Given the description of an element on the screen output the (x, y) to click on. 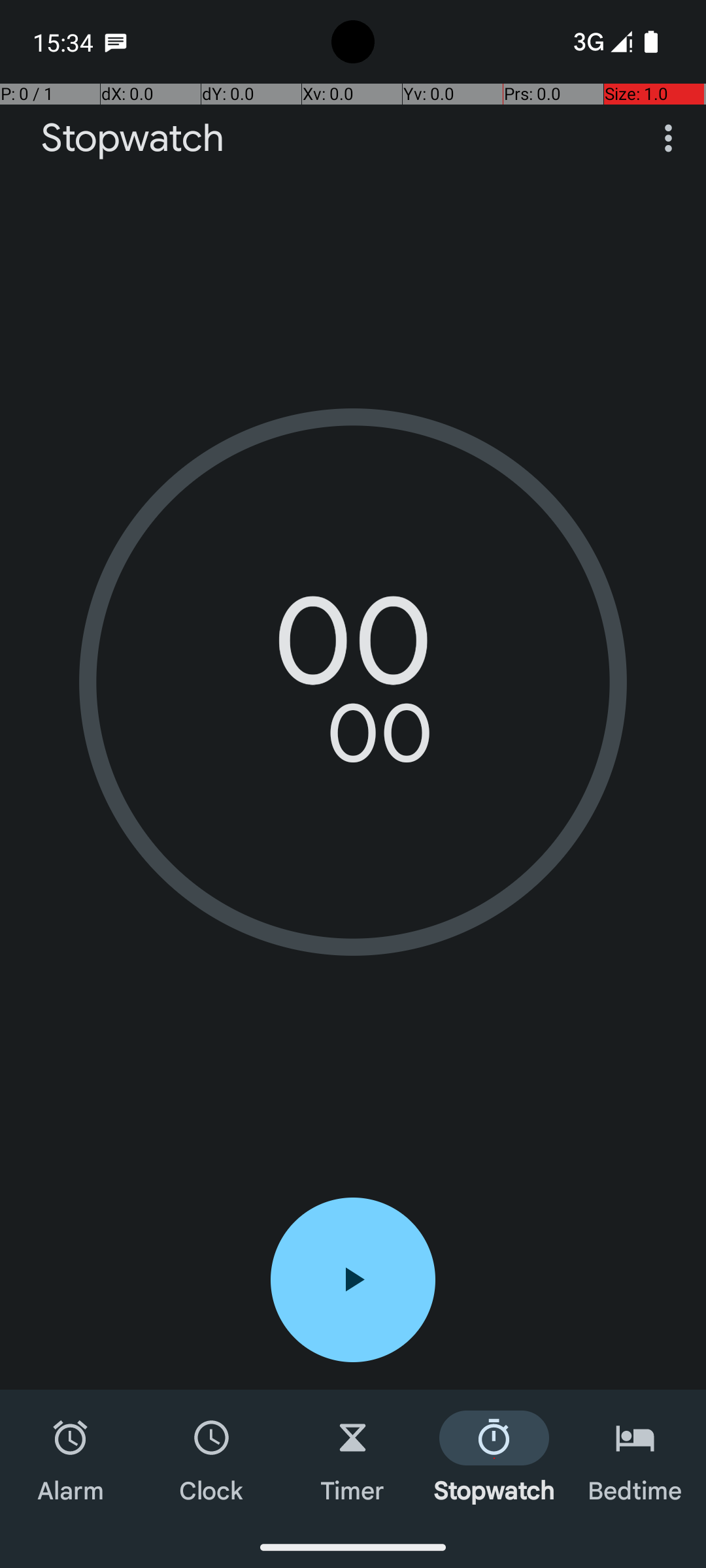
Stopwatch Element type: android.widget.TextView (132, 138)
Start Element type: android.widget.Button (352, 1279)
00 Element type: android.widget.TextView (352, 650)
Alarm Element type: android.widget.FrameLayout (70, 1457)
Timer Element type: android.widget.FrameLayout (352, 1457)
Bedtime Element type: android.widget.FrameLayout (635, 1457)
